Given the description of an element on the screen output the (x, y) to click on. 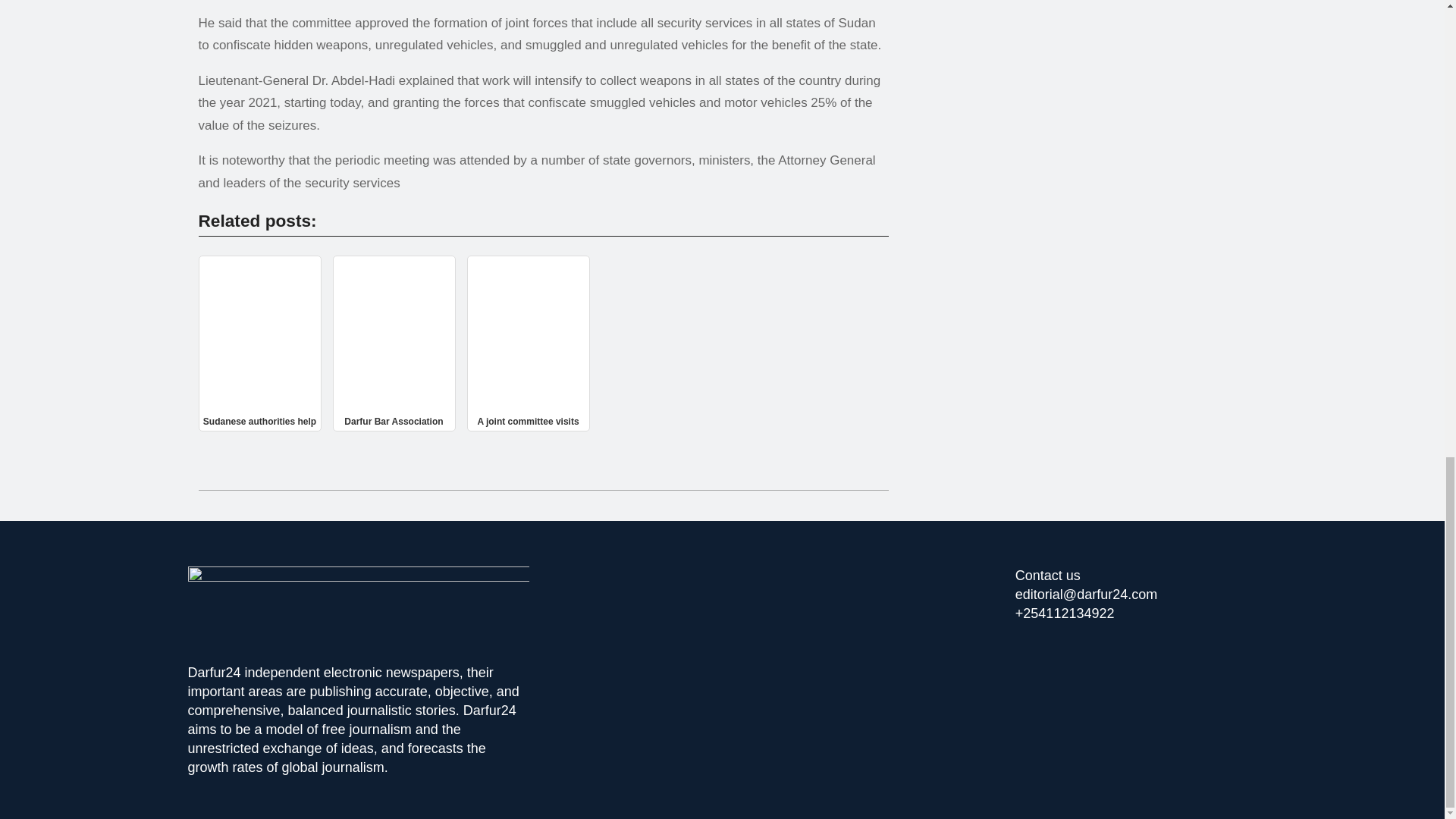
Contact us (1047, 575)
